Given the description of an element on the screen output the (x, y) to click on. 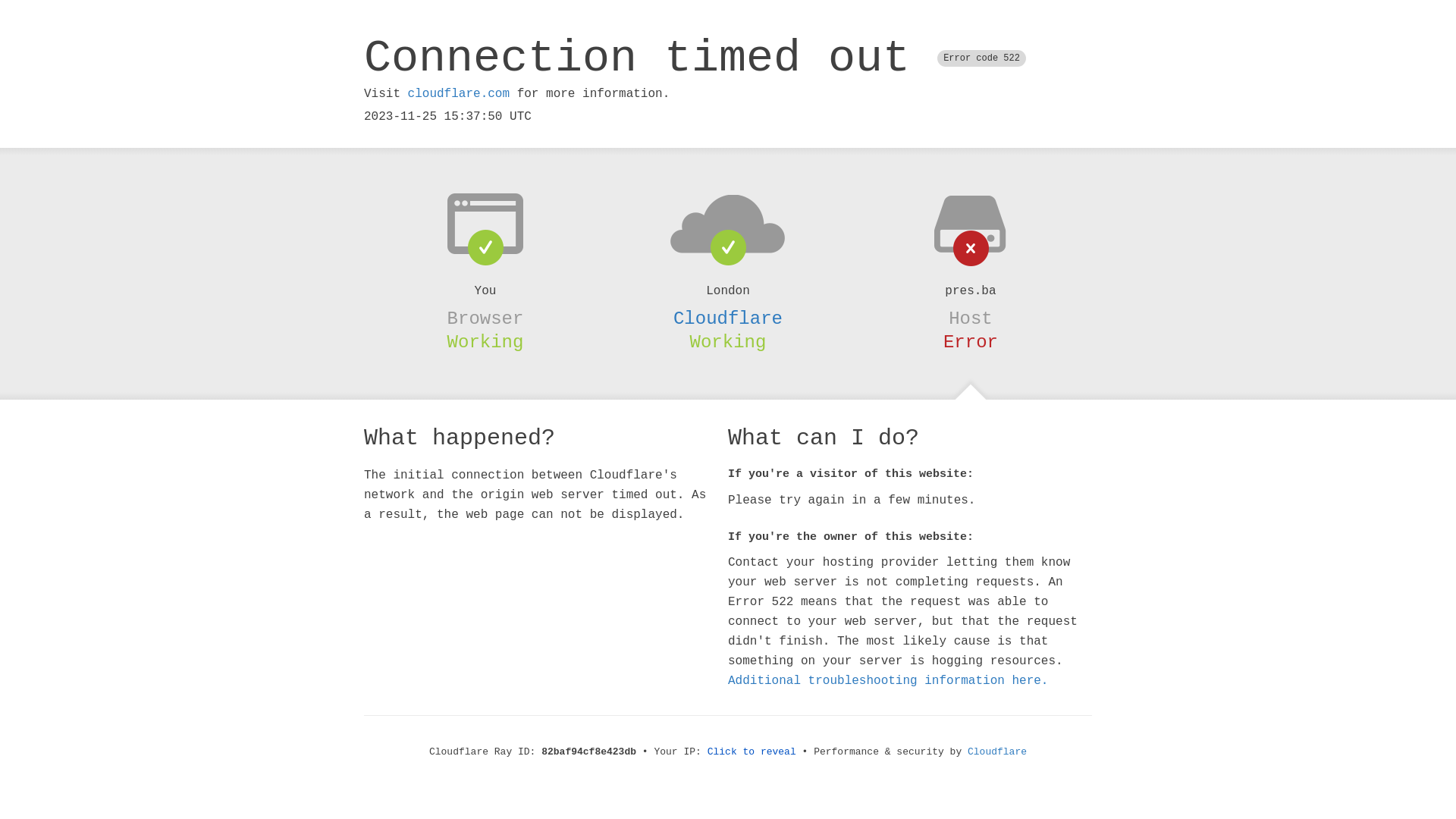
Cloudflare Element type: text (996, 751)
cloudflare.com Element type: text (458, 93)
Additional troubleshooting information here. Element type: text (888, 680)
Cloudflare Element type: text (727, 318)
Click to reveal Element type: text (751, 751)
